Given the description of an element on the screen output the (x, y) to click on. 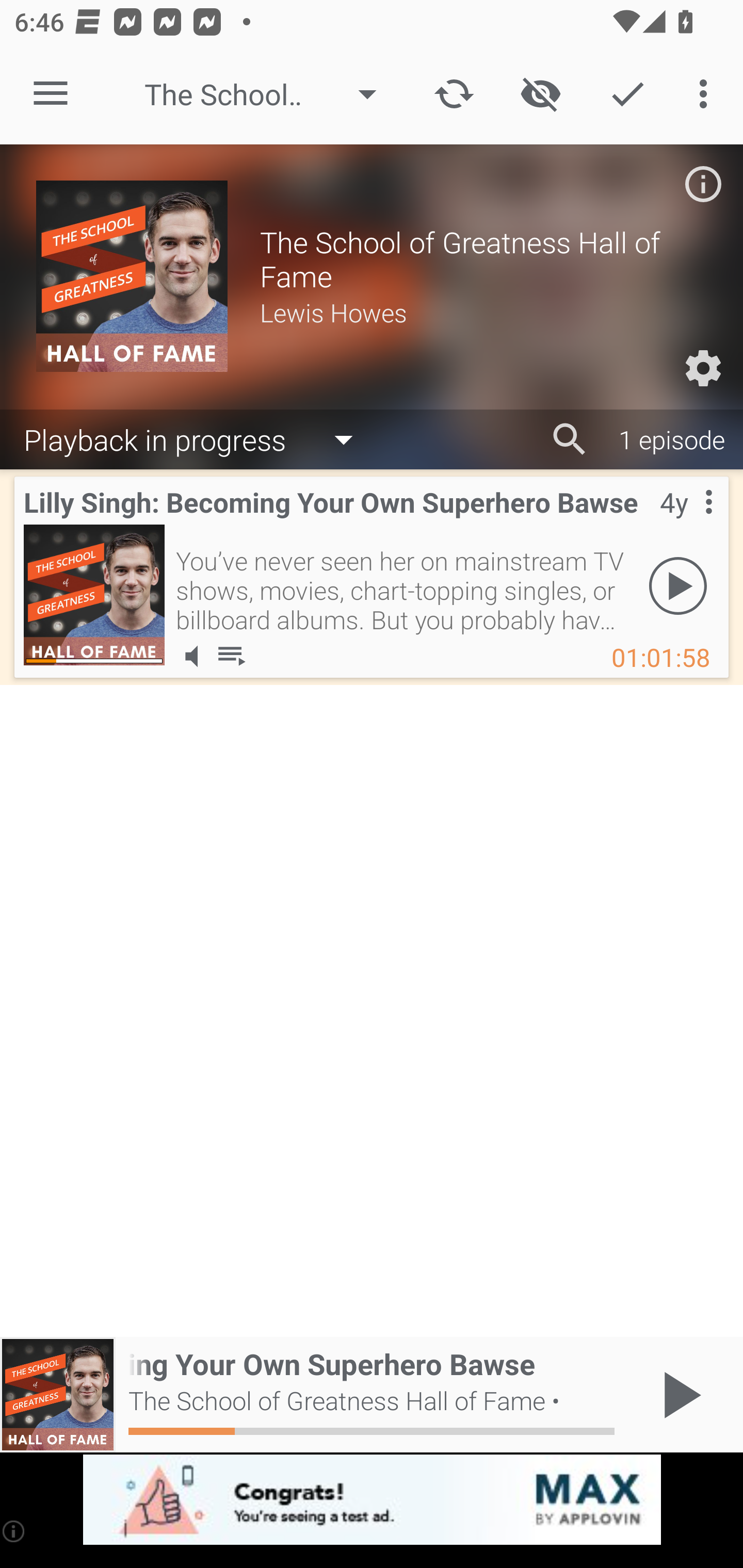
Open navigation sidebar (50, 93)
Update (453, 93)
Show / Hide played content (540, 93)
Action Mode (626, 93)
More options (706, 93)
The School of Greatness Hall of Fame (270, 94)
Podcast description (703, 184)
Lewis Howes (483, 311)
Custom Settings (703, 368)
Search (569, 439)
Playback in progress (197, 438)
Contextual menu (685, 522)
Lilly Singh: Becoming Your Own Superhero Bawse (93, 594)
Play (677, 585)
Play / Pause (677, 1394)
app-monetization (371, 1500)
(i) (14, 1531)
